Given the description of an element on the screen output the (x, y) to click on. 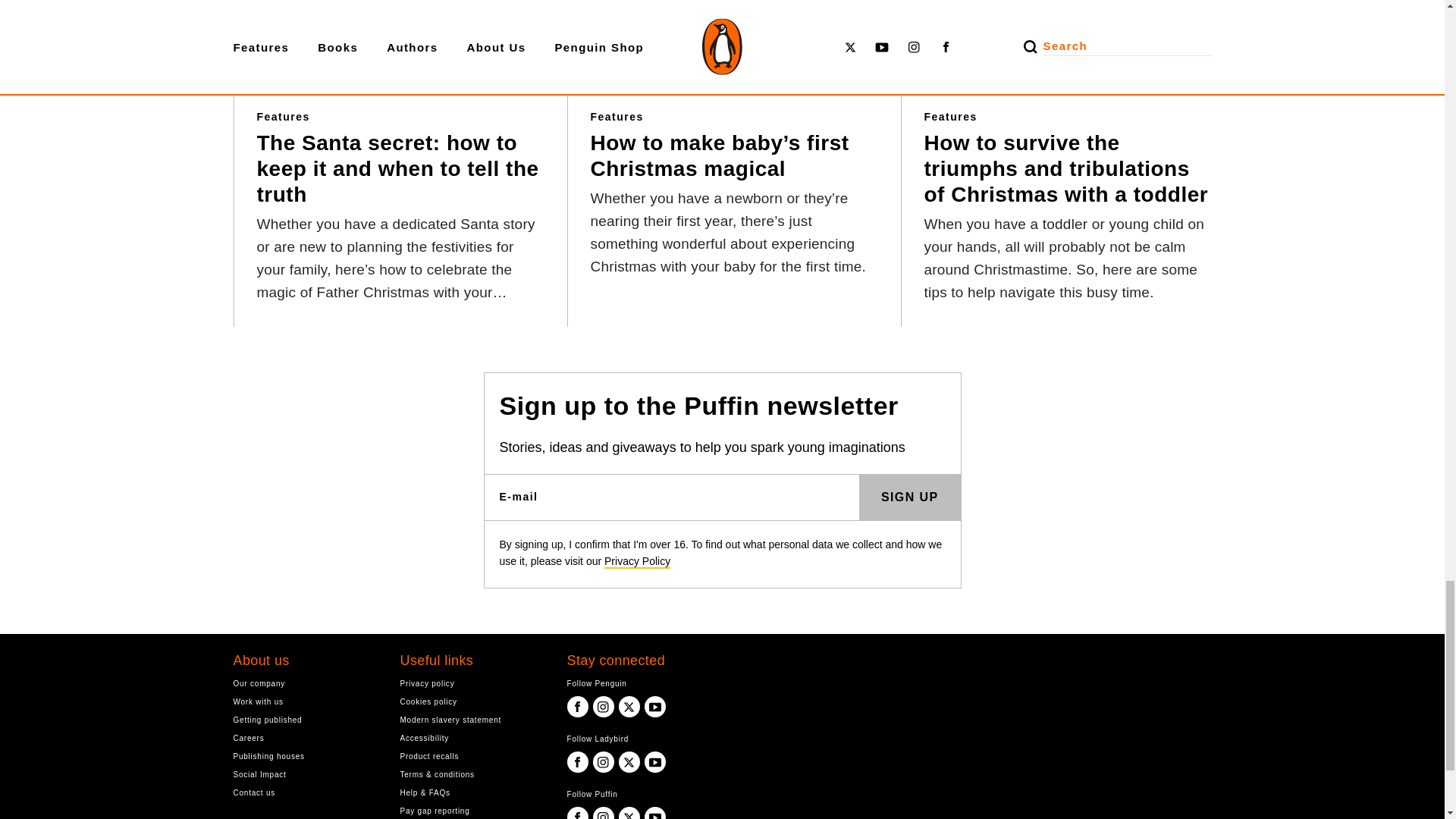
Cookies policy (472, 701)
SIGN UP (909, 497)
Getting published (304, 719)
Modern slavery statement (472, 719)
Careers (304, 738)
Publishing houses (304, 756)
Social Impact (304, 774)
Privacy policy (472, 683)
Privacy Policy (636, 561)
Work with us (304, 701)
Accessibility (472, 738)
Contact us (304, 792)
Our company (304, 683)
Product recalls (472, 756)
